Given the description of an element on the screen output the (x, y) to click on. 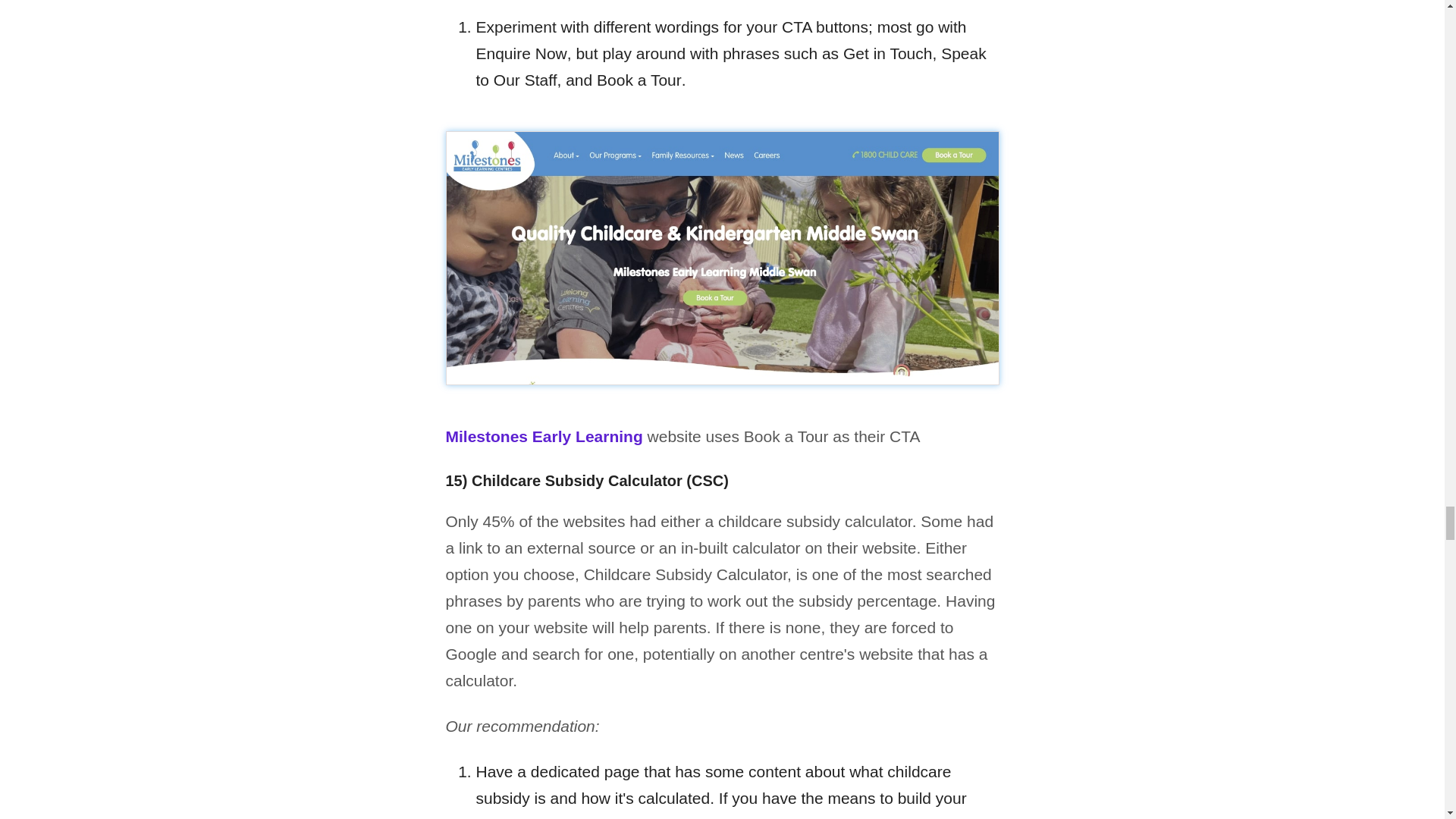
Milestones Early Learning (544, 436)
